Given the description of an element on the screen output the (x, y) to click on. 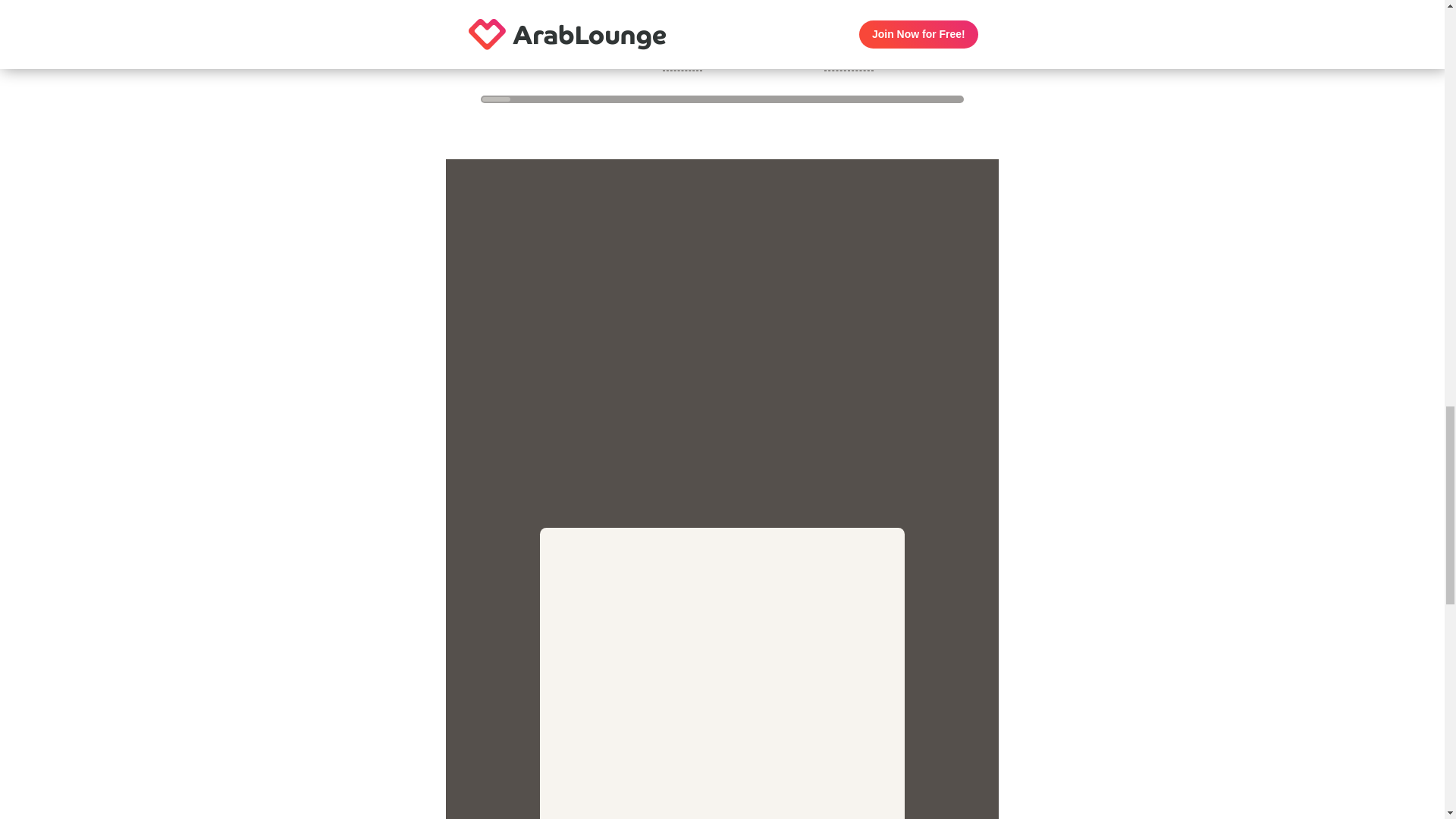
About Us (681, 63)
Signup Form (722, 673)
Americanizing Arab cuisine (882, 22)
Arab Dating (1173, 63)
10 reasons why Trump could NEVER be an Arab... Thankfully! (562, 2)
Arab Chat Rooms (1023, 63)
About ArabLounge (702, 38)
Arab billionaire prince married model in "secret ceremony" (1049, 30)
Amr Diab: Singer, Composer, Trendsetter (886, 55)
